Given the description of an element on the screen output the (x, y) to click on. 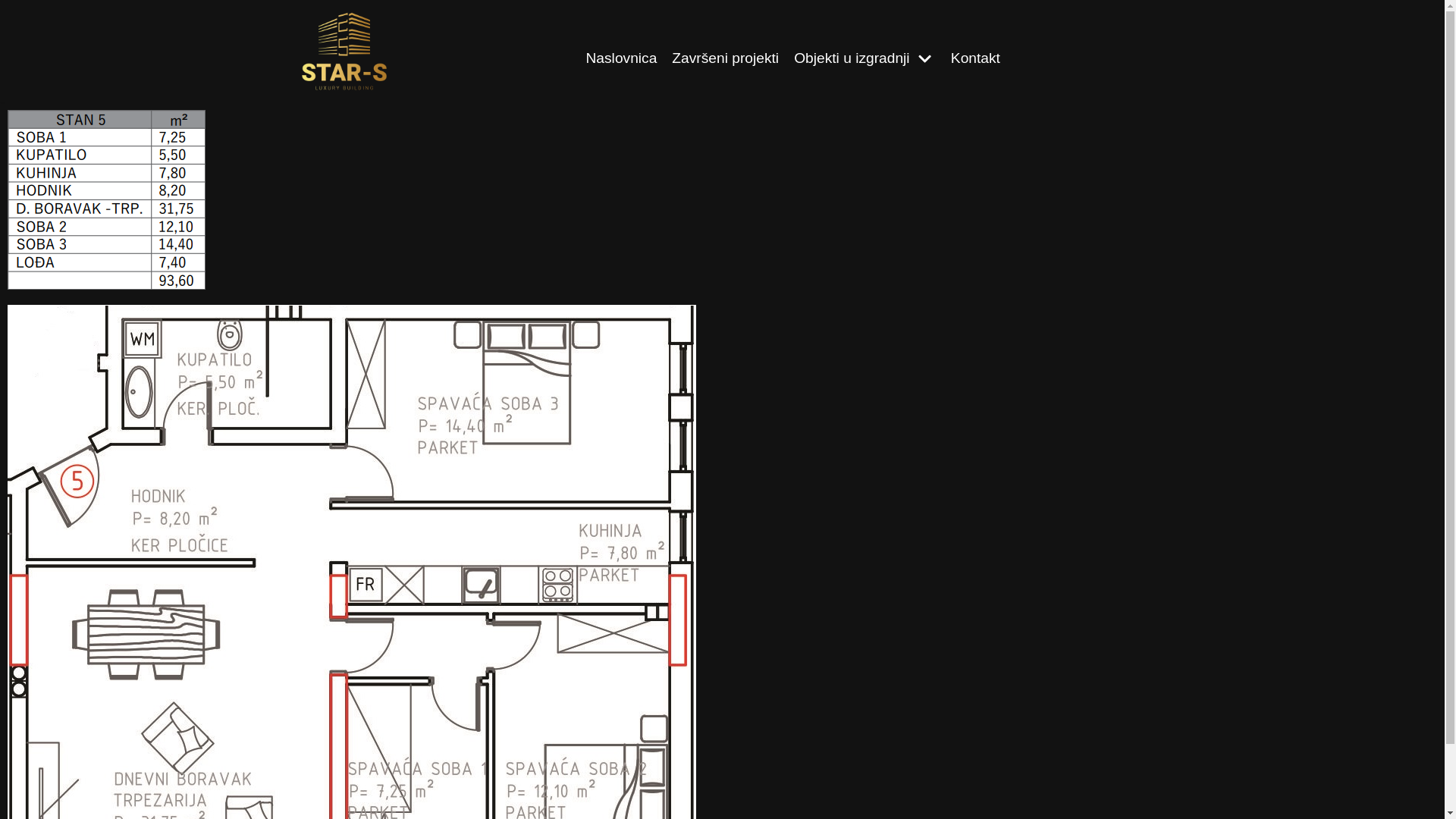
Skip to content Element type: text (15, 7)
Objekti u izgradnji Element type: text (864, 58)
Star-S Element type: hover (343, 51)
Naslovnica Element type: text (620, 58)
Kontakt Element type: text (975, 58)
